Given the description of an element on the screen output the (x, y) to click on. 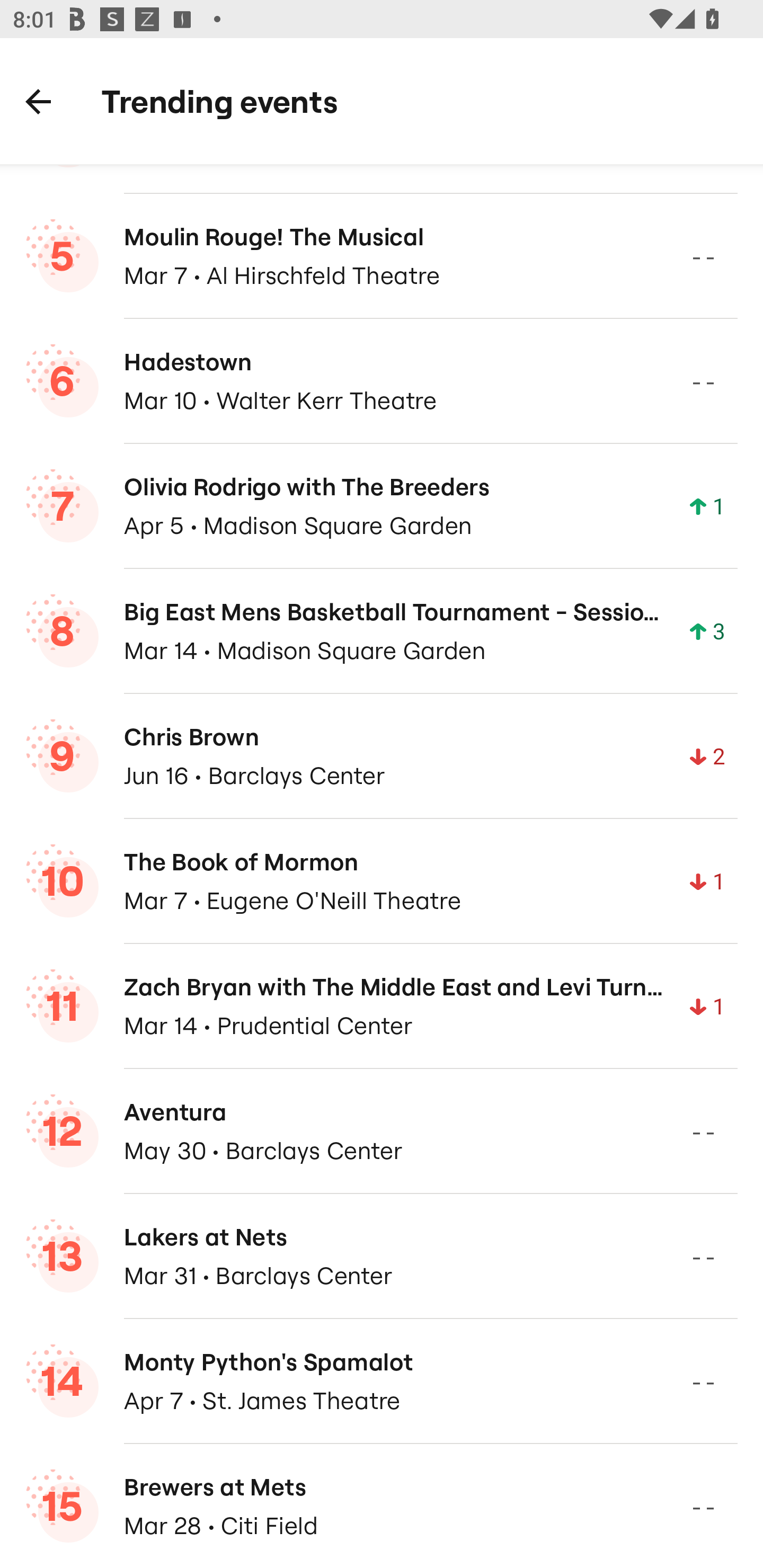
Back (38, 100)
